Given the description of an element on the screen output the (x, y) to click on. 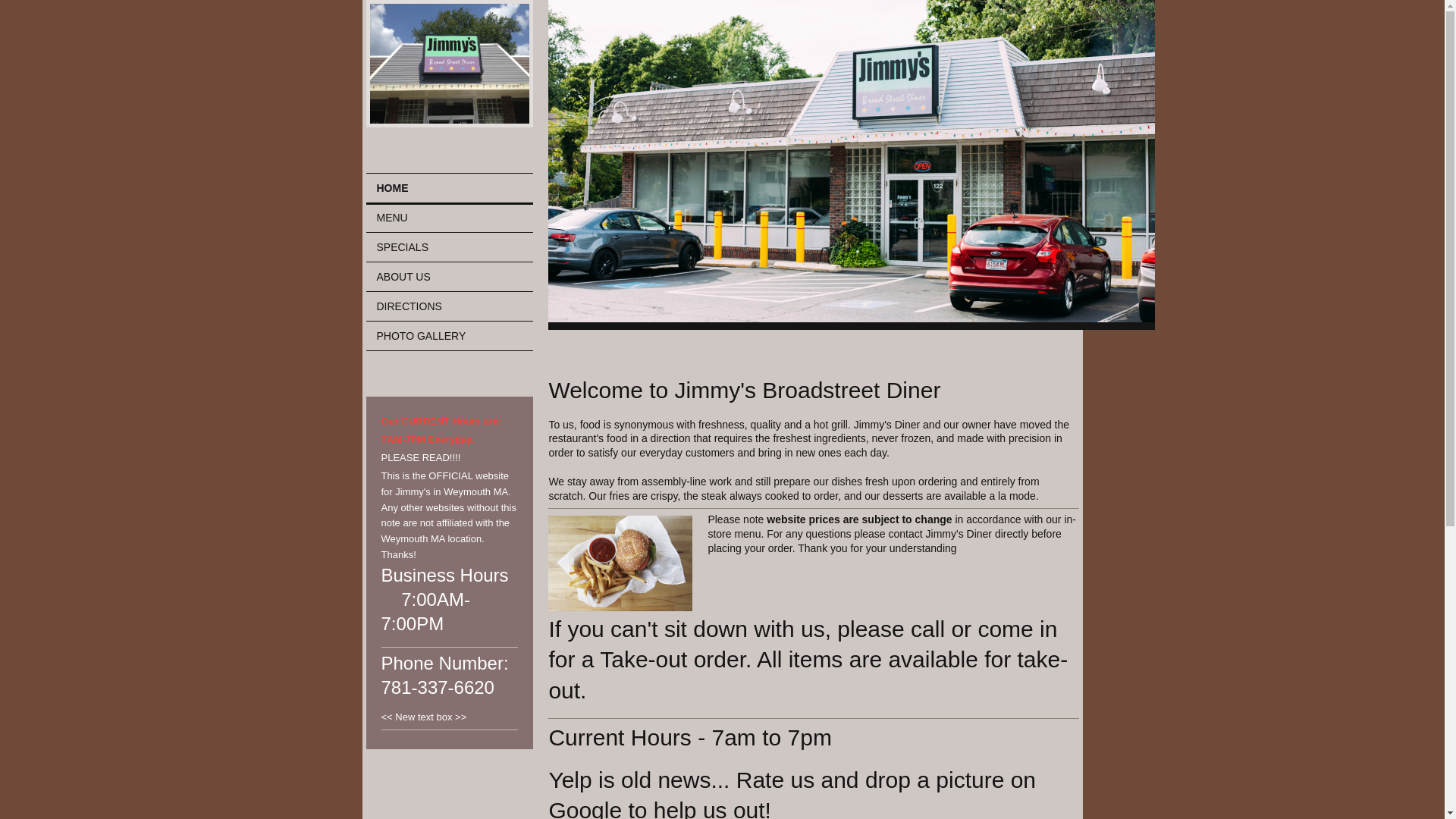
PHOTO GALLERY (448, 335)
HOME (448, 188)
ABOUT US (448, 276)
SPECIALS (448, 246)
DIRECTIONS (448, 306)
MENU (448, 217)
